Given the description of an element on the screen output the (x, y) to click on. 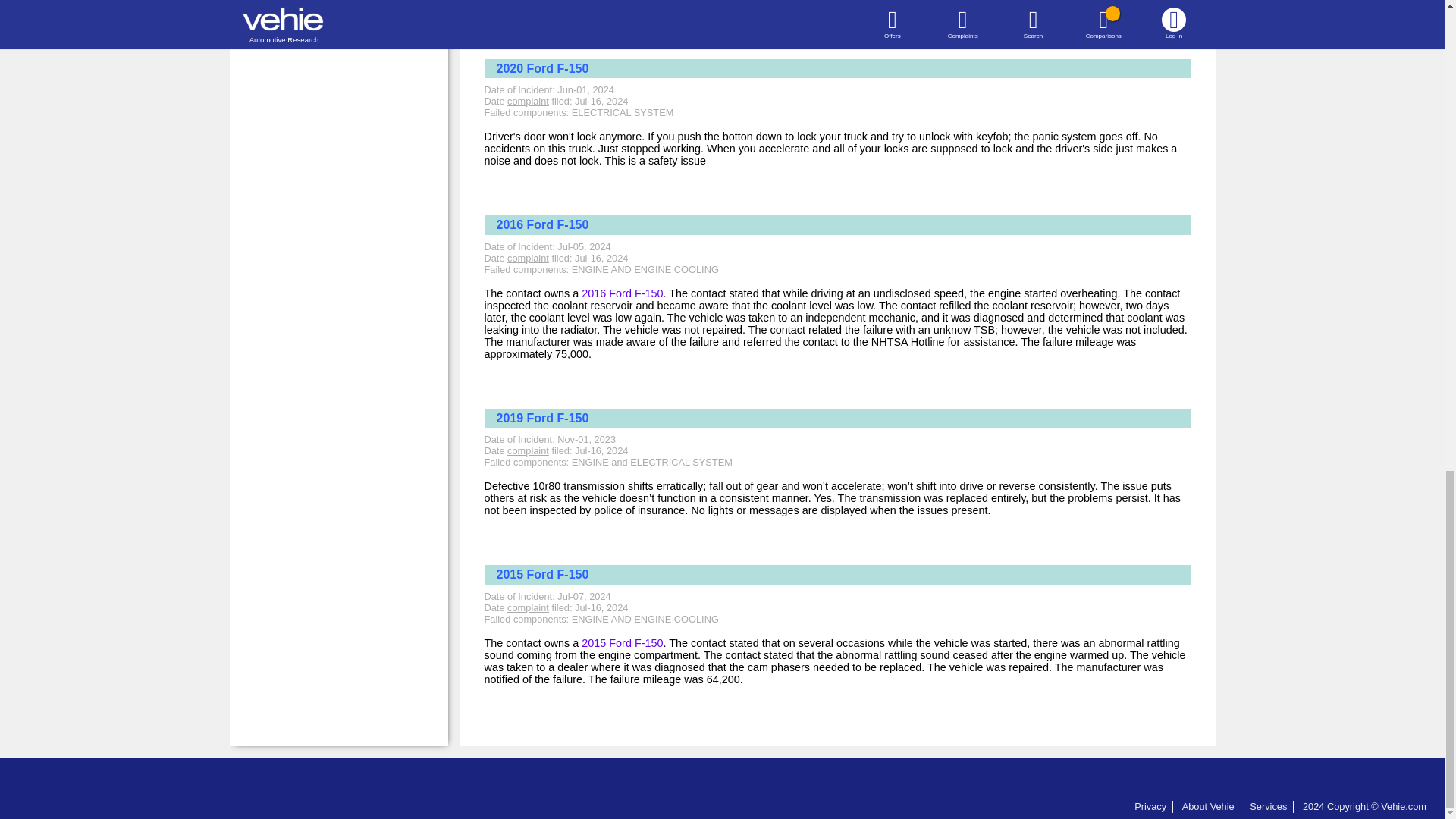
2015 Ford F-150 (621, 643)
Services (1268, 806)
Privacy (1150, 806)
2016 Ford F-150 (621, 293)
About Vehie (1208, 806)
complaint (527, 257)
complaint (527, 607)
complaint (527, 101)
complaint (527, 450)
